Given the description of an element on the screen output the (x, y) to click on. 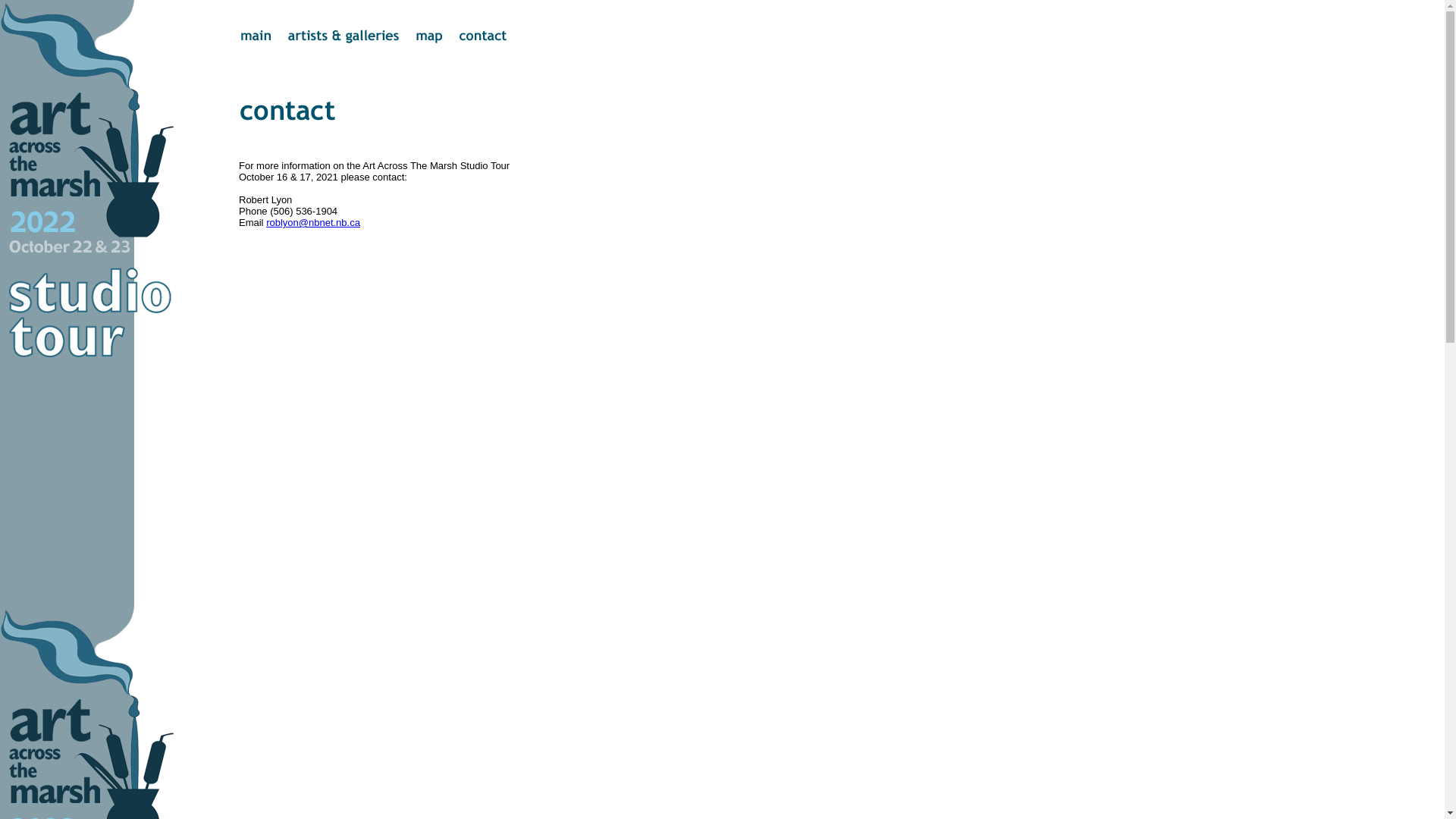
roblyon@nbnet.nb.ca Element type: text (313, 222)
